Given the description of an element on the screen output the (x, y) to click on. 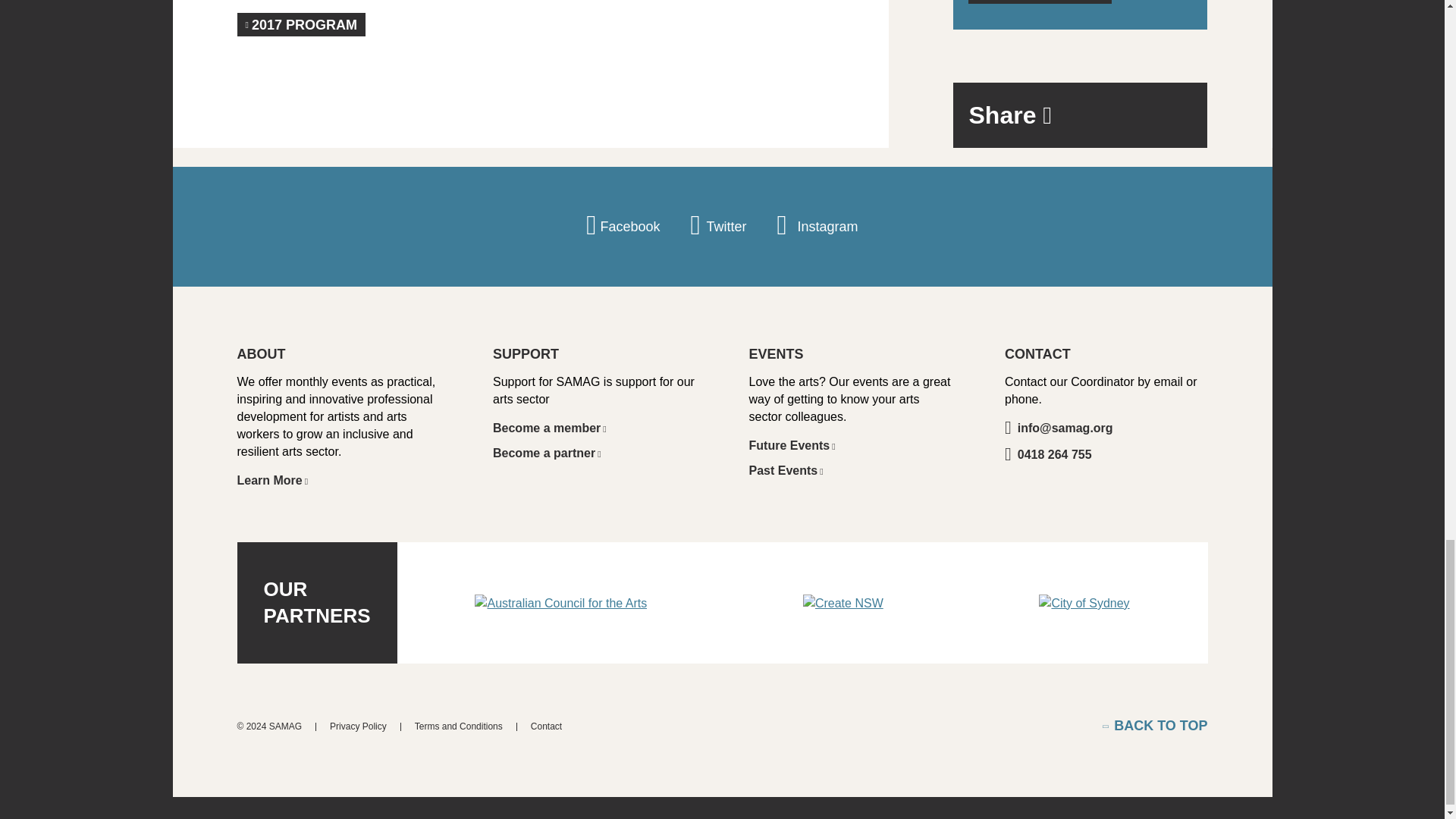
Instagram (816, 226)
Facebook (622, 226)
Twitter (718, 226)
